Given the description of an element on the screen output the (x, y) to click on. 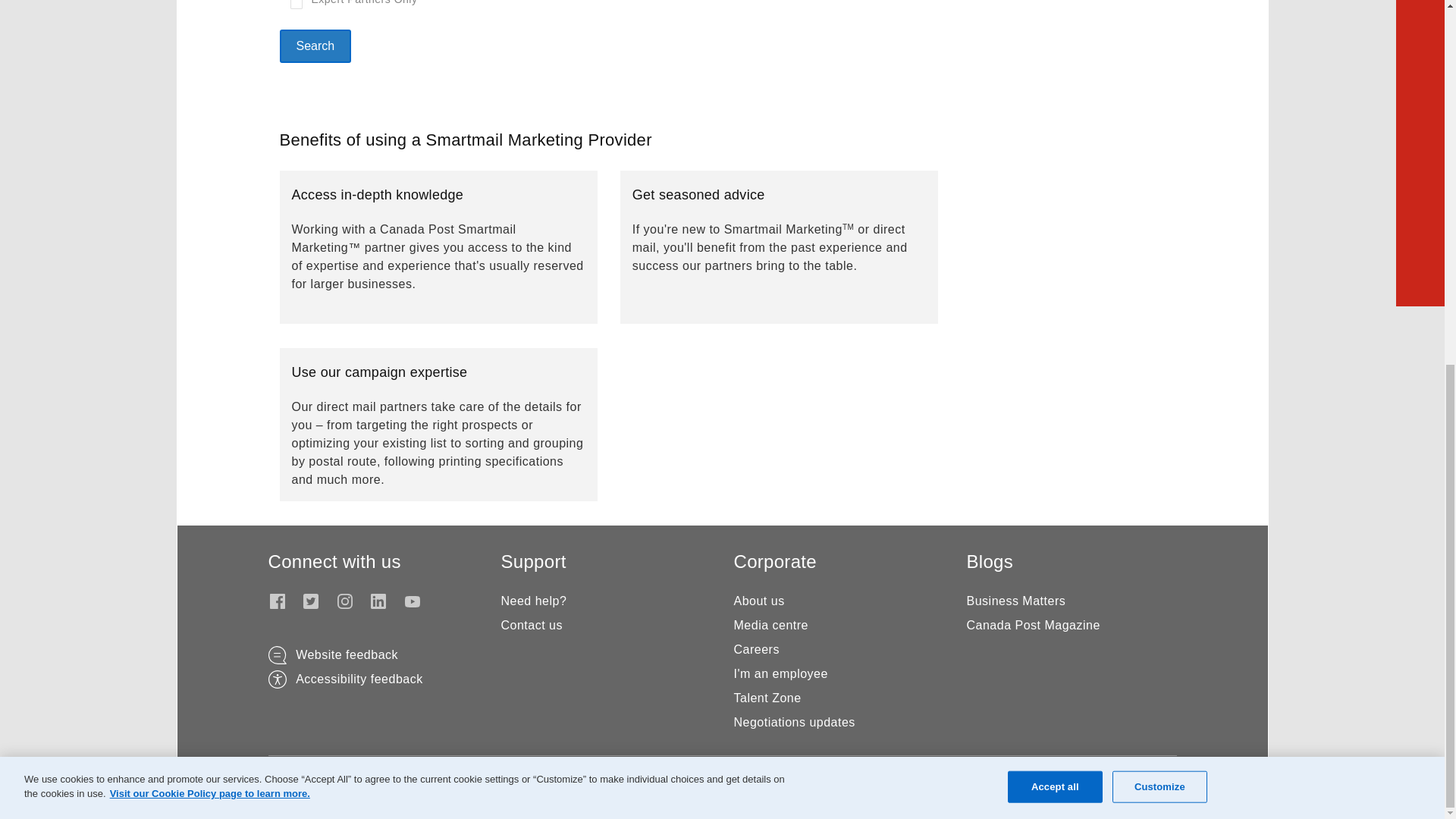
Opens a new window (359, 678)
Twitter (310, 601)
Linkedin (378, 601)
Opens a new window (346, 654)
YouTube (412, 601)
Facebook (276, 601)
Instagram (344, 601)
